Given the description of an element on the screen output the (x, y) to click on. 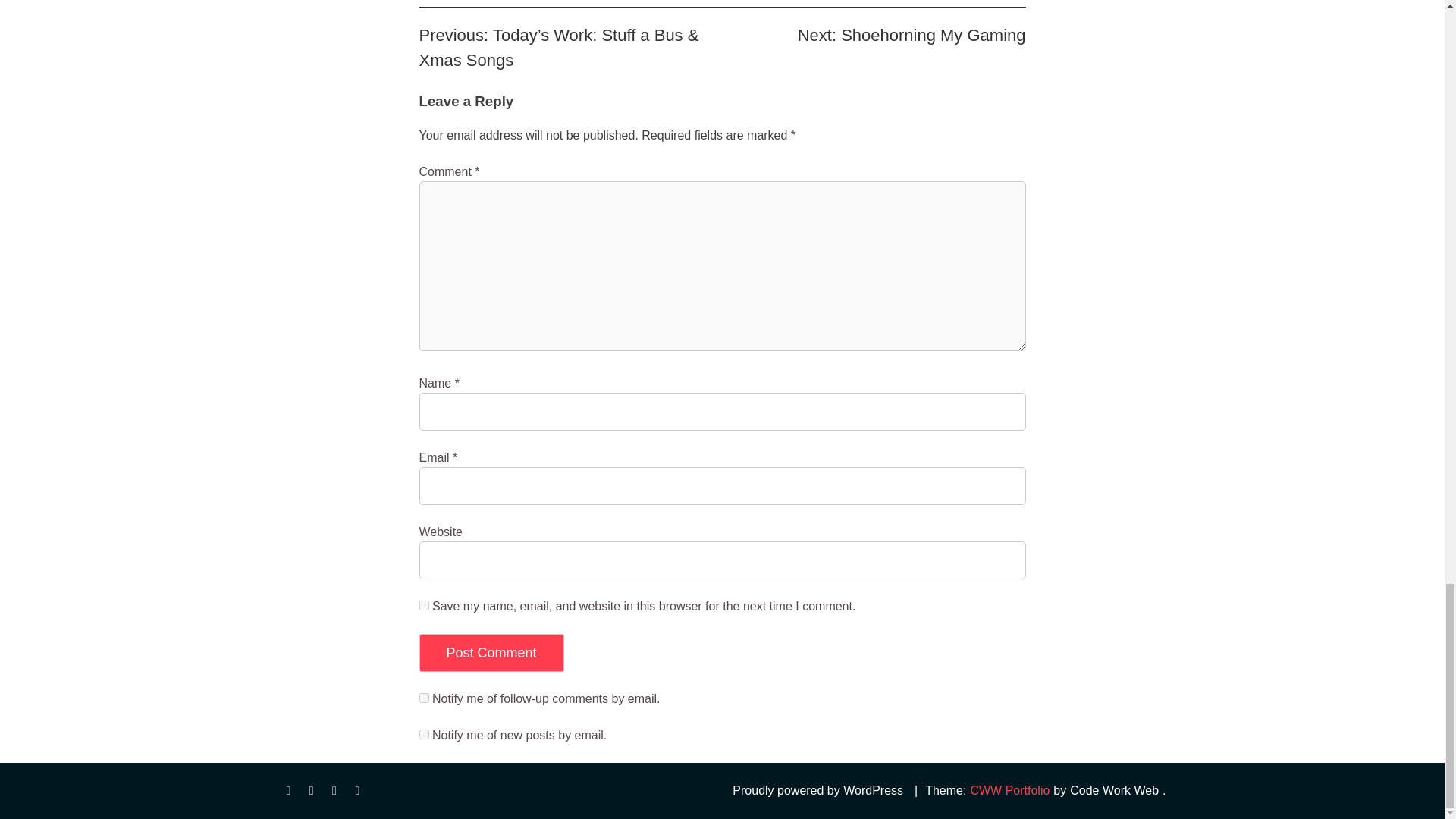
Post Comment (491, 652)
CWW Portfolio (1009, 791)
Post Comment (491, 652)
Code Work Web (1113, 791)
Proudly powered by WordPress (818, 791)
subscribe (423, 697)
yes (423, 605)
subscribe (423, 734)
Next: Shoehorning My Gaming (911, 35)
